Given the description of an element on the screen output the (x, y) to click on. 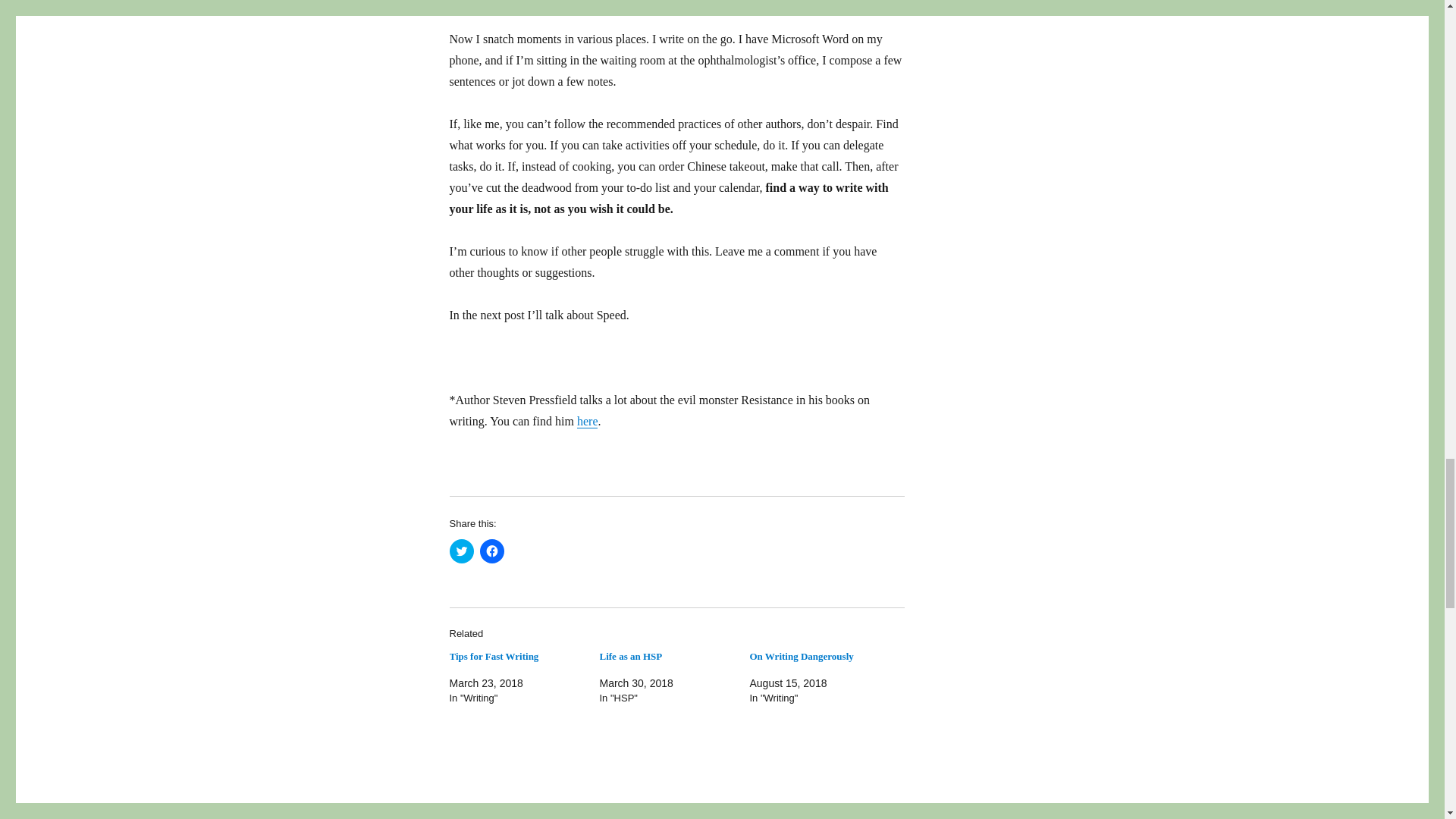
On Writing Dangerously (801, 655)
On Writing Dangerously (801, 655)
here (587, 420)
Click to share on Facebook (491, 550)
Tips for Fast Writing (493, 655)
Click to share on Twitter (460, 550)
Life as an HSP (630, 655)
Tips for Fast Writing (493, 655)
Life as an HSP (630, 655)
